Given the description of an element on the screen output the (x, y) to click on. 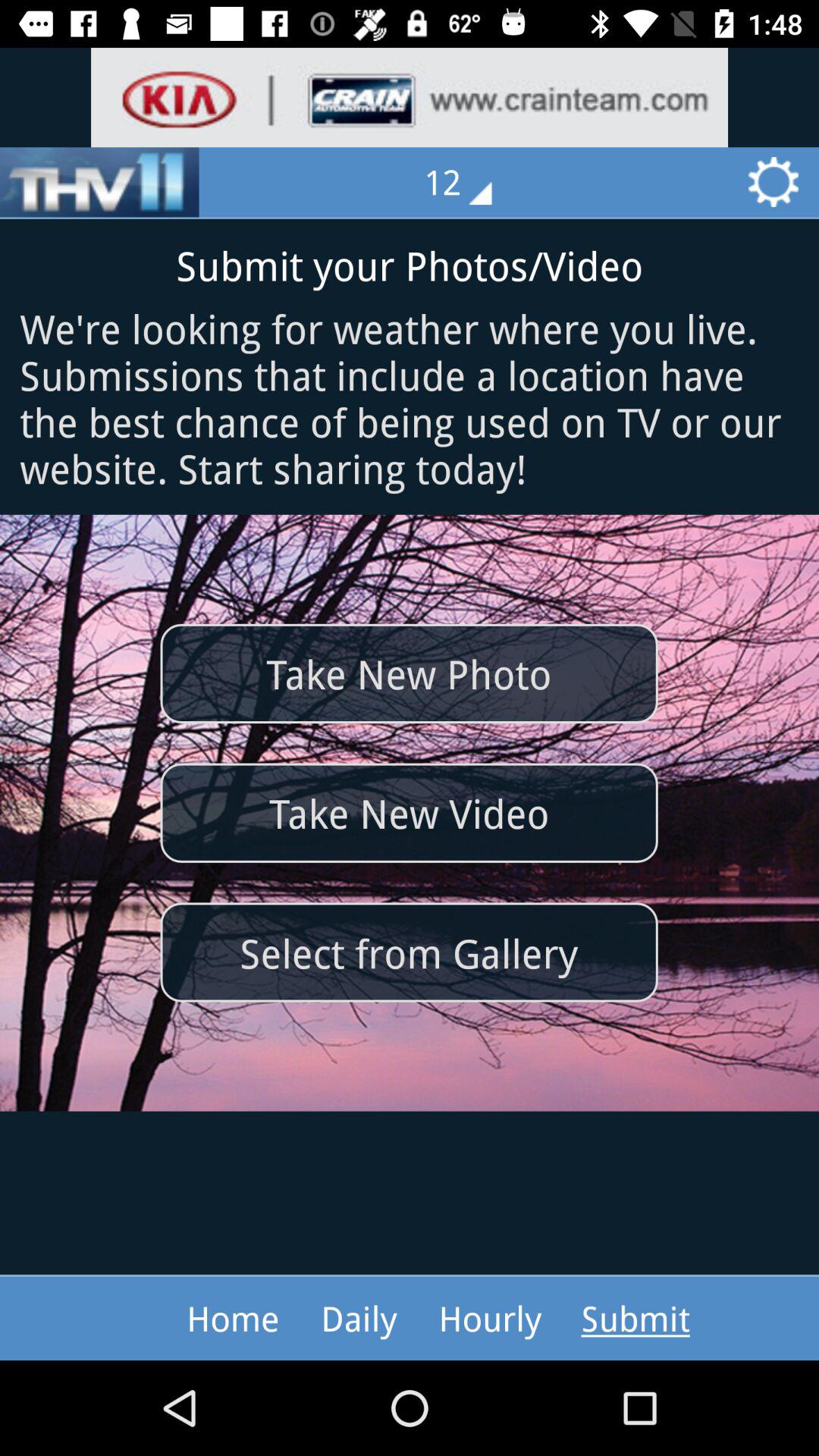
select the 12 icon (468, 182)
